Given the description of an element on the screen output the (x, y) to click on. 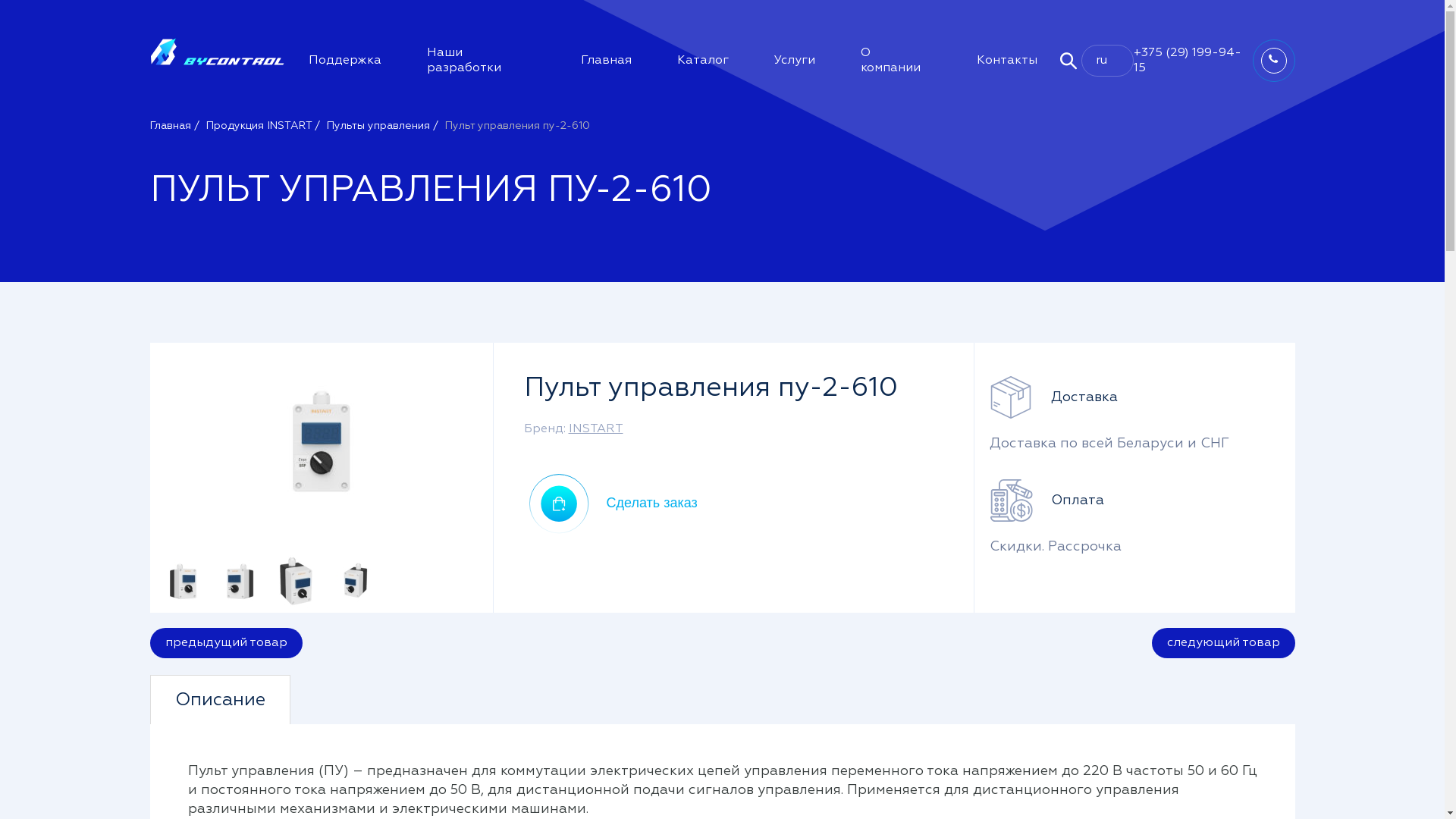
INSTART Element type: text (595, 429)
+375 (29) 199-94-15 Element type: text (1187, 60)
